Given the description of an element on the screen output the (x, y) to click on. 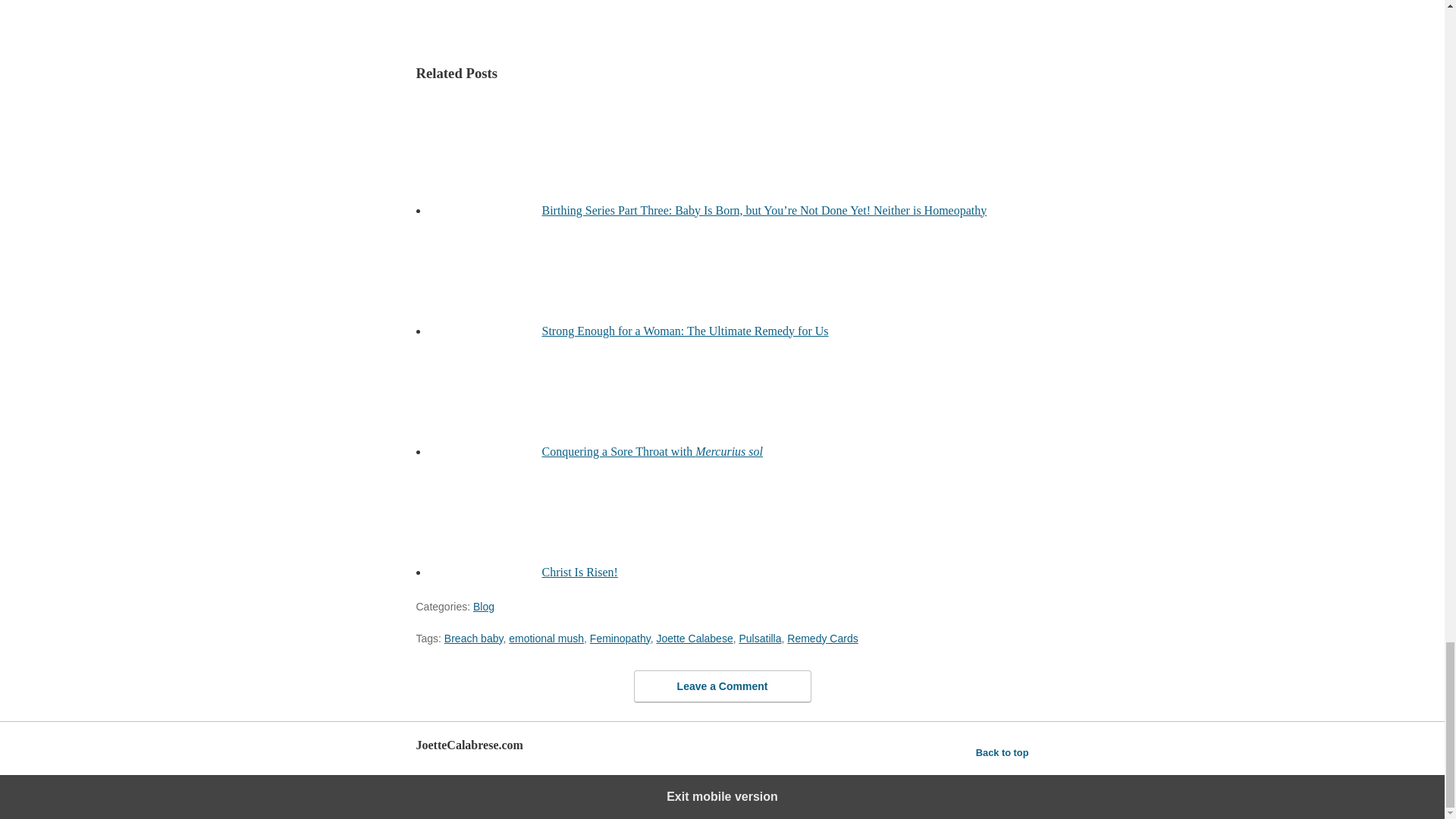
Leave a Comment (721, 686)
Conquering a Sore Throat with Mercurius sol (651, 450)
Back to top (1002, 752)
Christ Is Risen! (579, 571)
emotional mush (545, 638)
Pulsatilla (759, 638)
Feminopathy (619, 638)
Blog (484, 606)
Remedy Cards (822, 638)
Breach baby (473, 638)
Joette Calabese (694, 638)
Strong Enough for a Woman: The Ultimate Remedy for Us (684, 330)
